Given the description of an element on the screen output the (x, y) to click on. 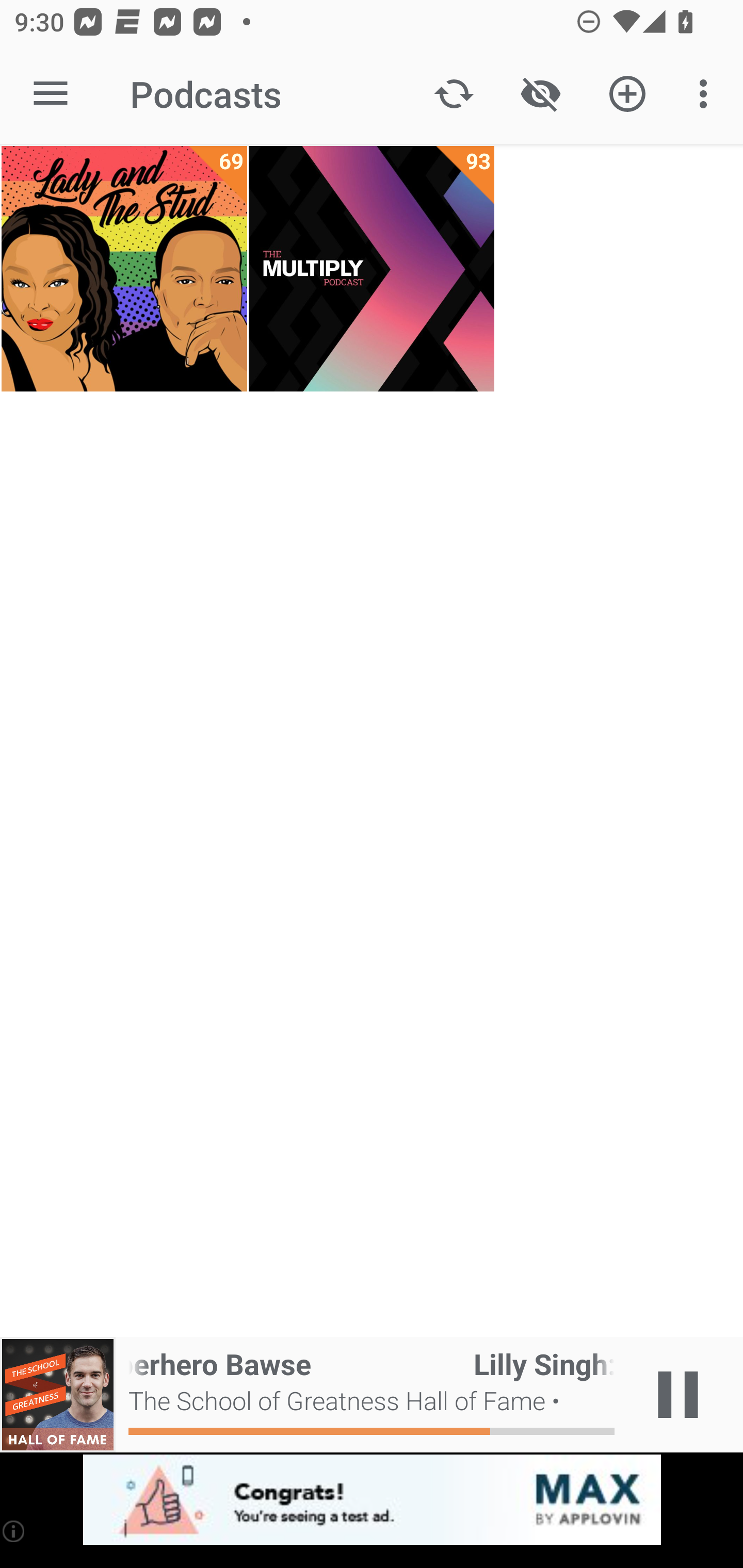
Open navigation sidebar (50, 93)
Update (453, 93)
Show / Hide played content (540, 93)
Add new Podcast (626, 93)
More options (706, 93)
Lady and The Stud 69 (124, 268)
The Multiply Podcast 93 (371, 268)
Play / Pause (677, 1394)
app-monetization (371, 1500)
(i) (14, 1531)
